Given the description of an element on the screen output the (x, y) to click on. 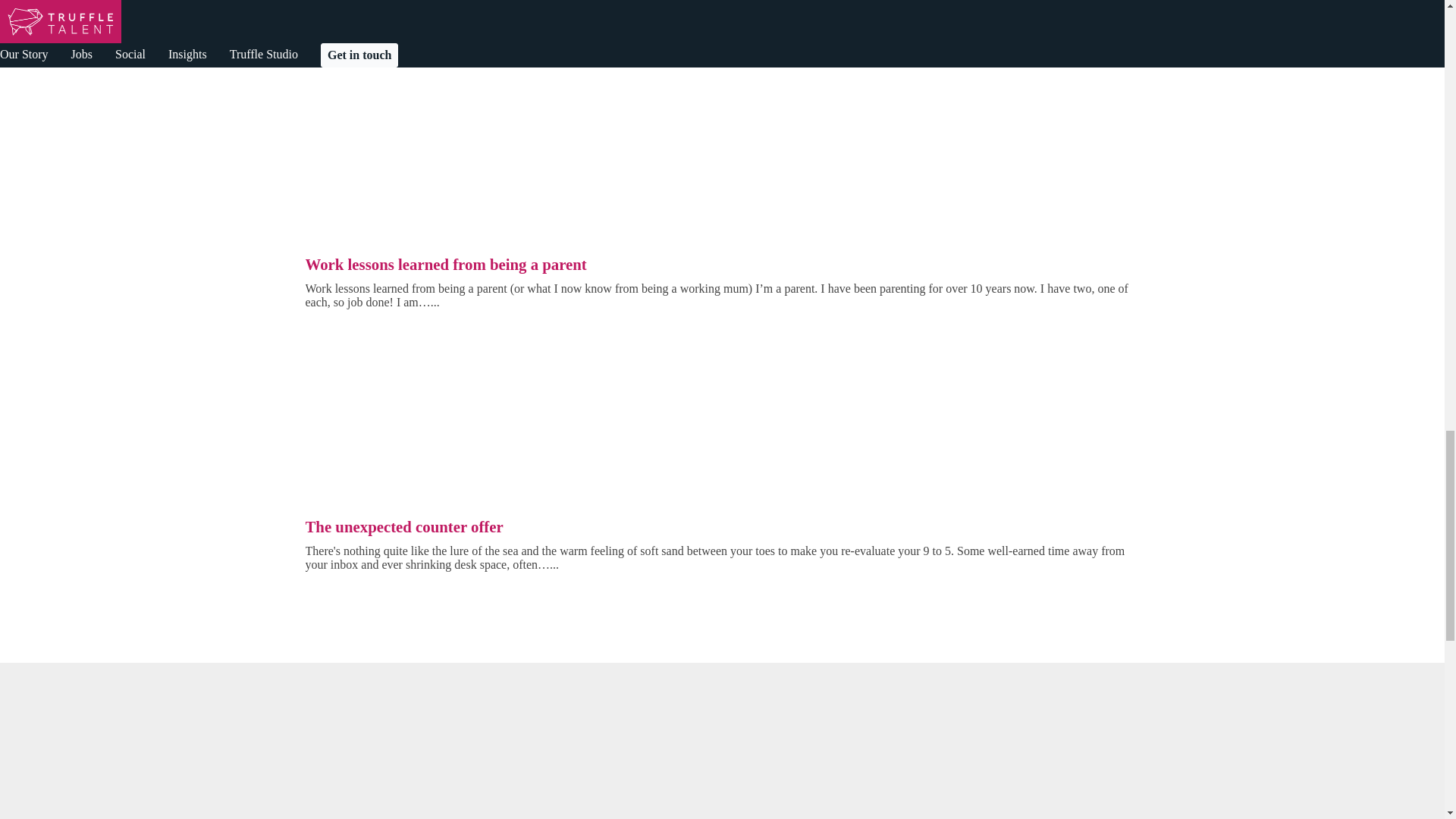
Work lessons learned from being a parent (445, 263)
The unexpected counter offer (403, 526)
